Given the description of an element on the screen output the (x, y) to click on. 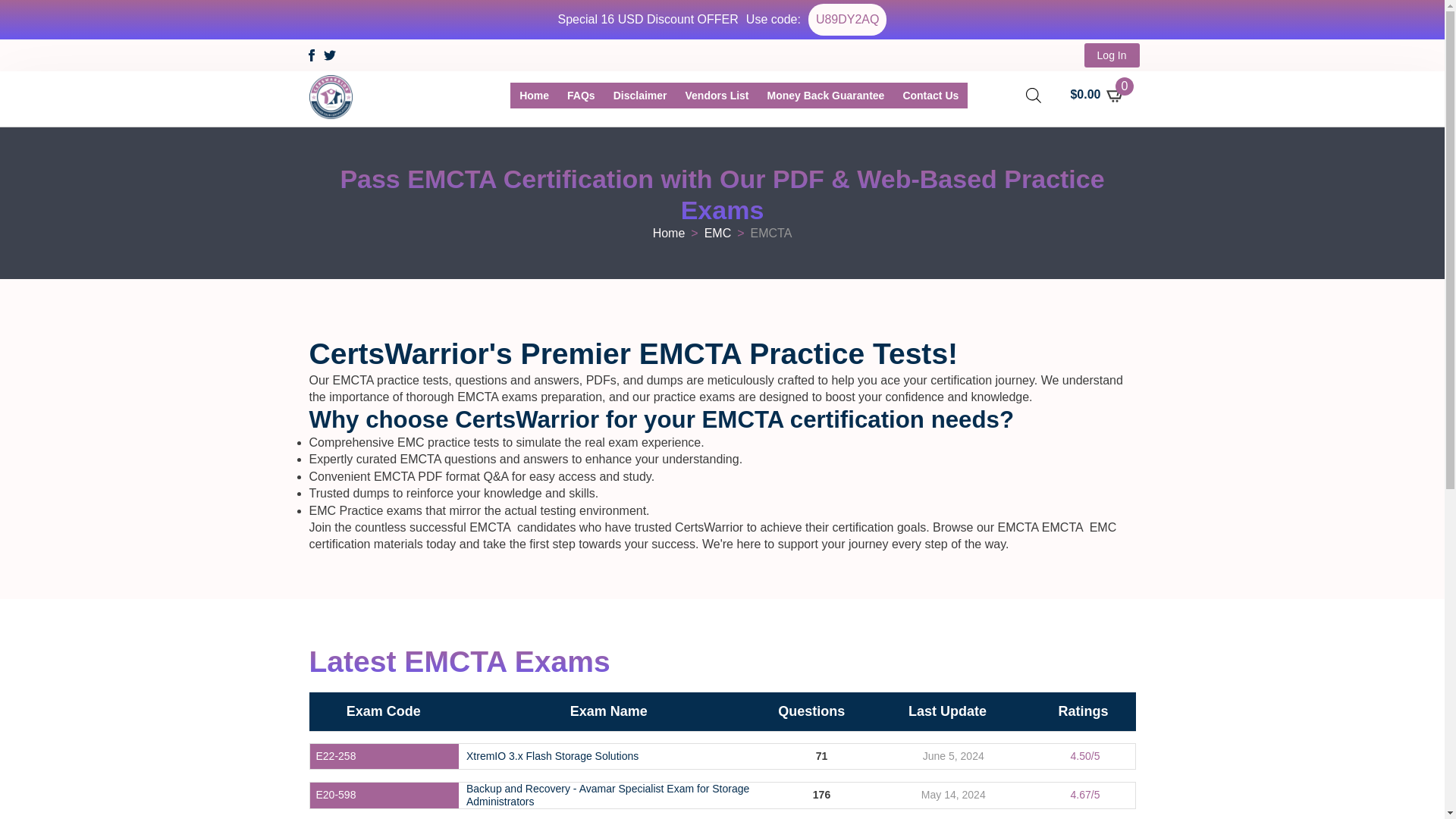
Disclaimer (640, 95)
Home (534, 95)
E20-598 (335, 794)
Disclaimer (640, 95)
Contact Us (930, 95)
CertsWarrior (534, 95)
Exam Code (383, 711)
Contact Us (930, 95)
Refund Policy (825, 95)
Money Back Guarantee (825, 95)
FAQs (580, 95)
XtremIO 3.x Flash Storage Solutions (552, 756)
Home (668, 233)
Log In (1112, 55)
